Given the description of an element on the screen output the (x, y) to click on. 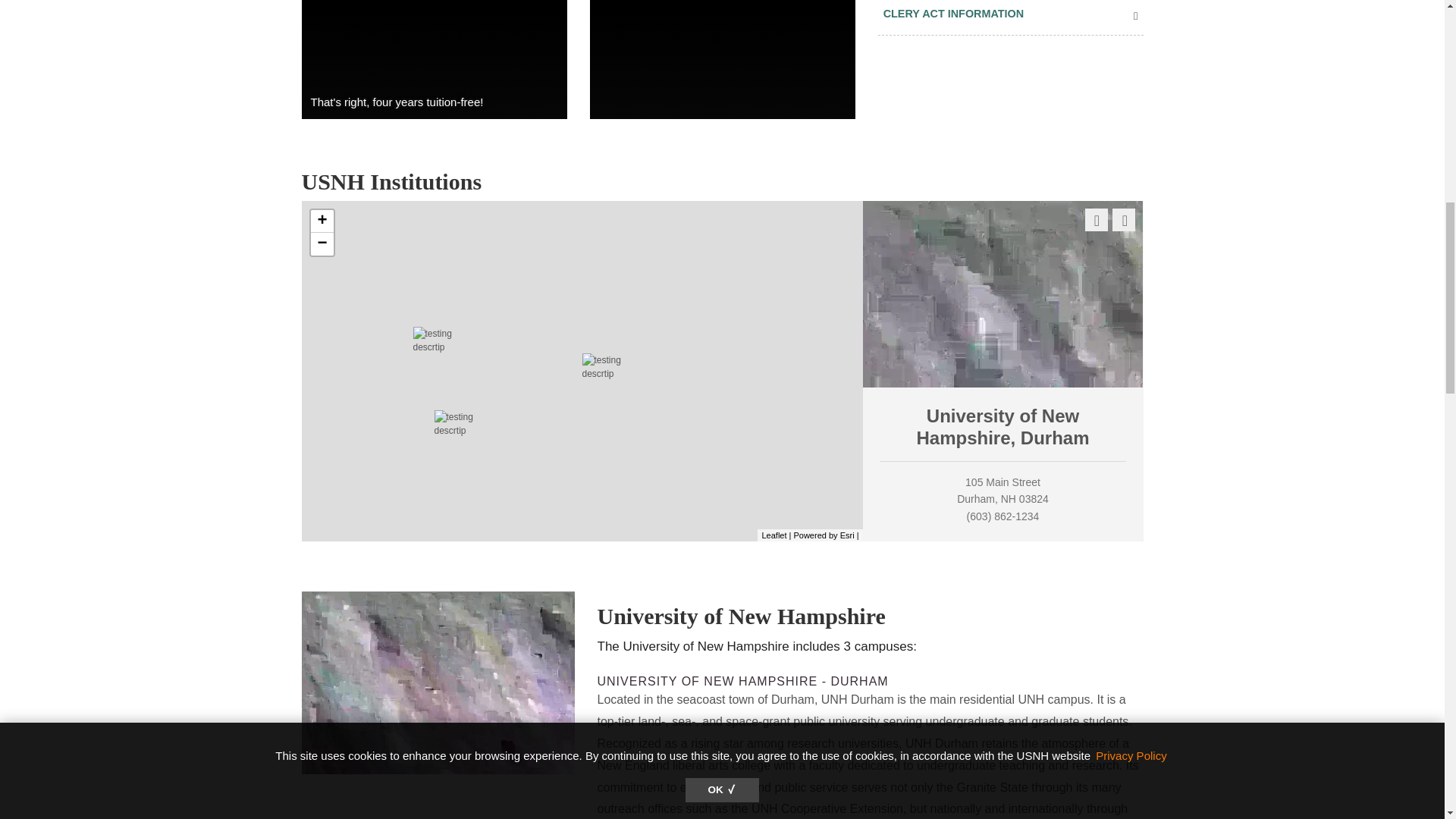
Clery Act Information (1010, 14)
Zoom out (322, 243)
A JS library for interactive maps (773, 534)
Zoom in (322, 220)
